Given the description of an element on the screen output the (x, y) to click on. 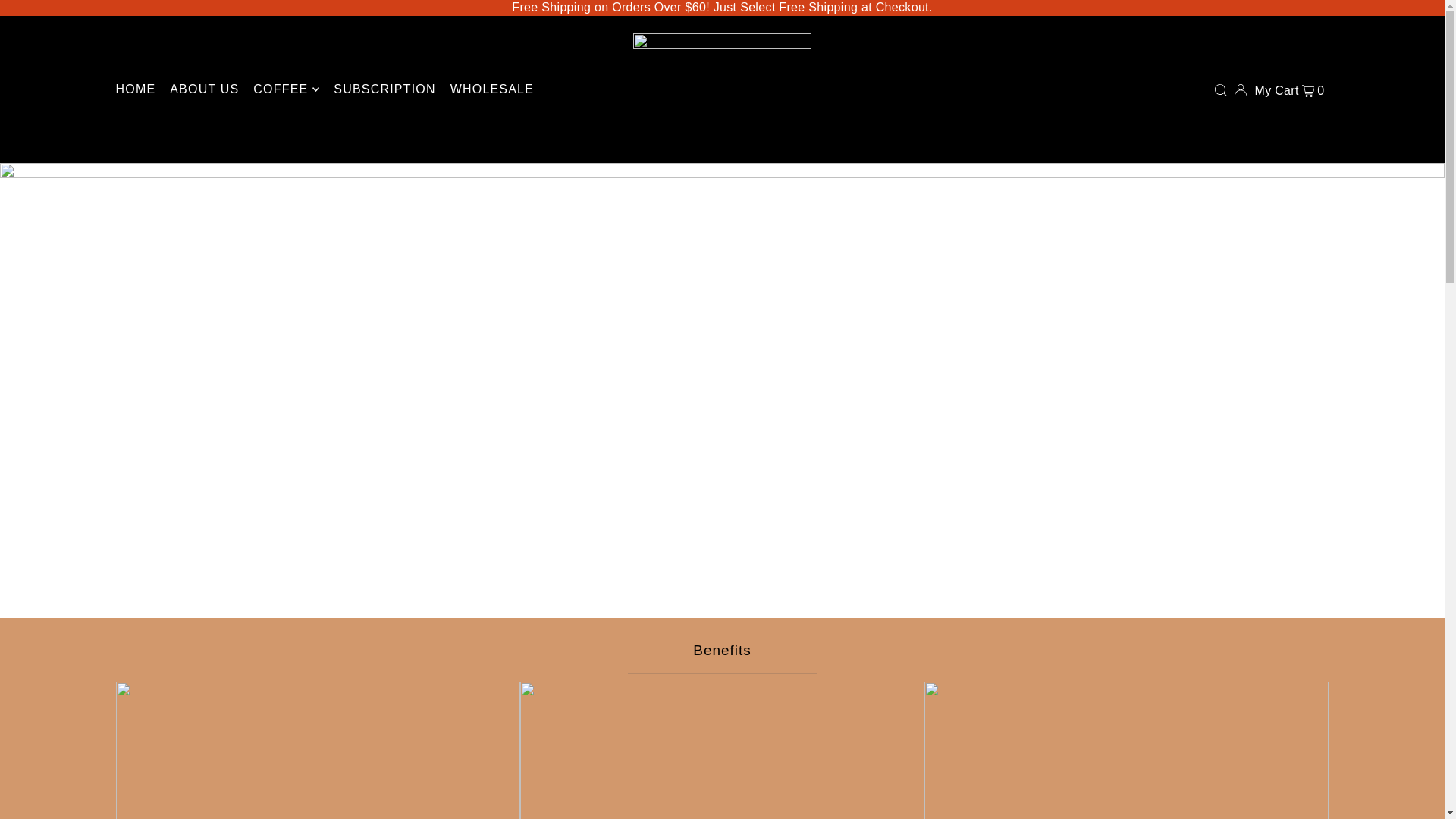
ABOUT US (204, 89)
HOME (135, 89)
COFFEE (285, 89)
SUBSCRIPTION (384, 89)
WHOLESALE (491, 89)
